Given the description of an element on the screen output the (x, y) to click on. 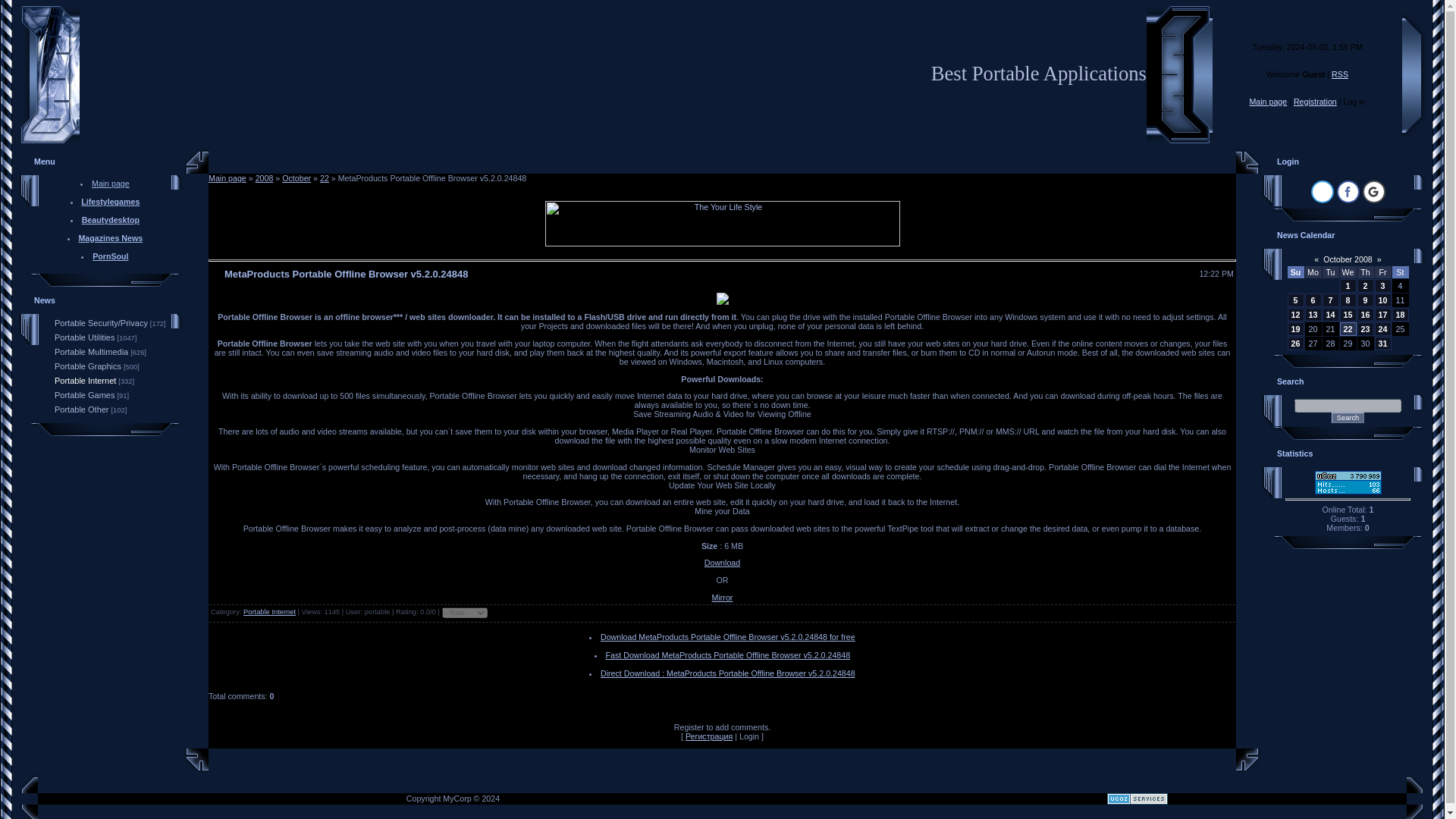
Main page (1268, 101)
Log in with Google (1372, 191)
Main page (227, 177)
Download (721, 562)
Portable Multimedia (91, 351)
Portable Utilities (85, 337)
Log in with Facebook (1347, 191)
Portable Games (85, 394)
Beautydesktop (110, 219)
